Given the description of an element on the screen output the (x, y) to click on. 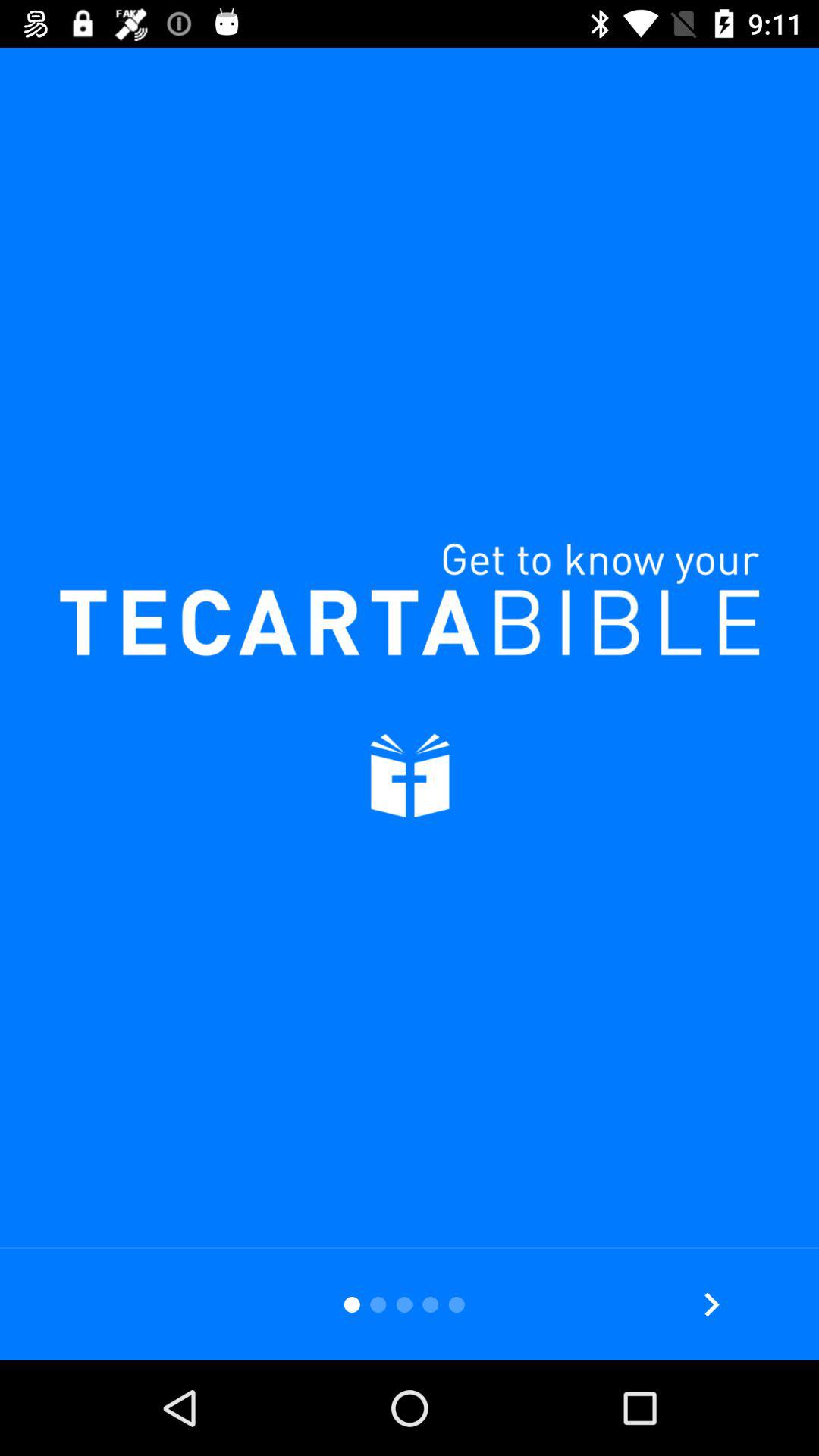
next page (711, 1304)
